Given the description of an element on the screen output the (x, y) to click on. 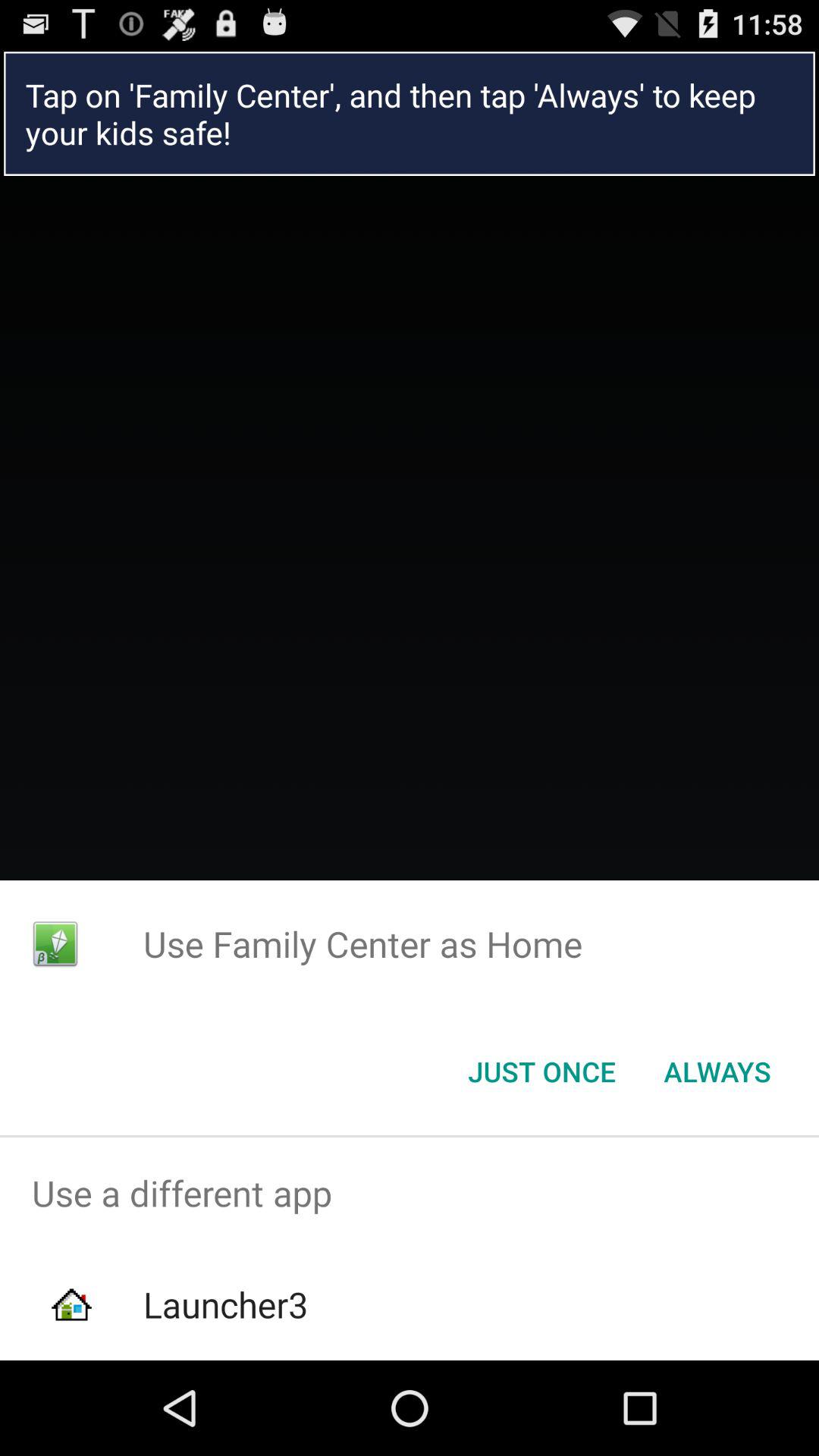
flip to the always (717, 1071)
